Given the description of an element on the screen output the (x, y) to click on. 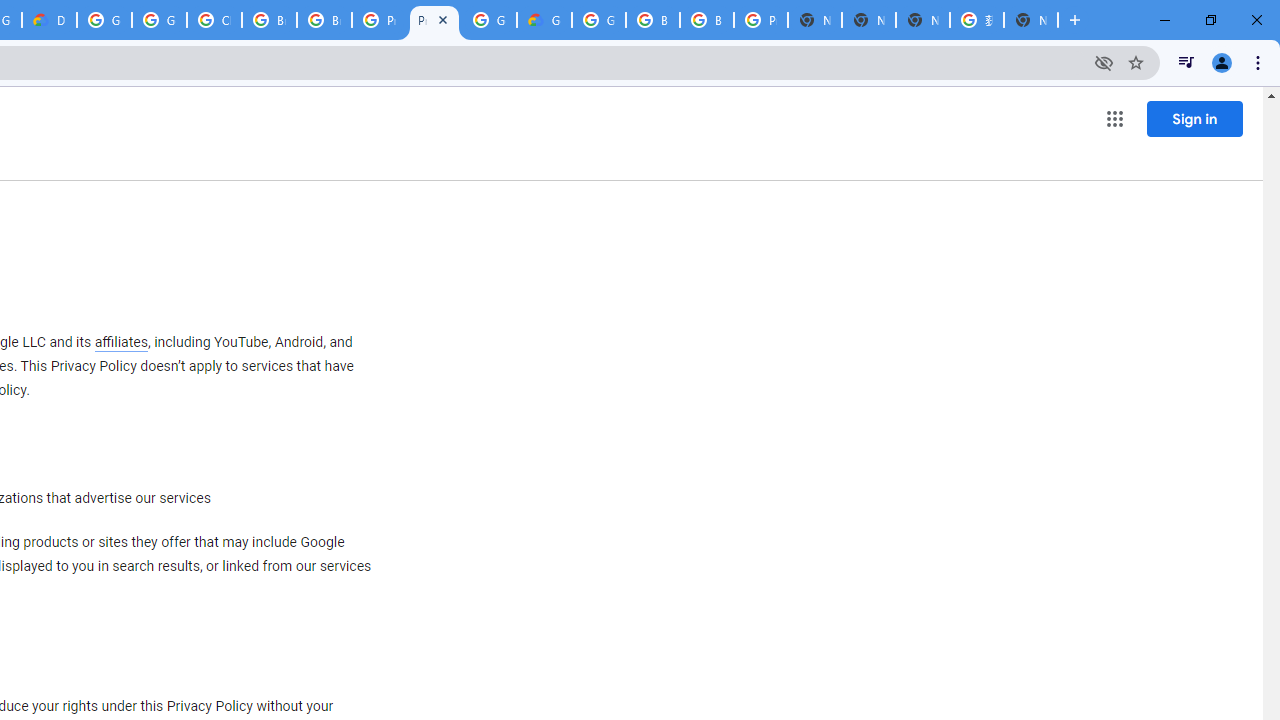
Google Cloud Platform (489, 20)
Google Cloud Platform (598, 20)
Browse Chrome as a guest - Computer - Google Chrome Help (268, 20)
affiliates (120, 342)
